Given the description of an element on the screen output the (x, y) to click on. 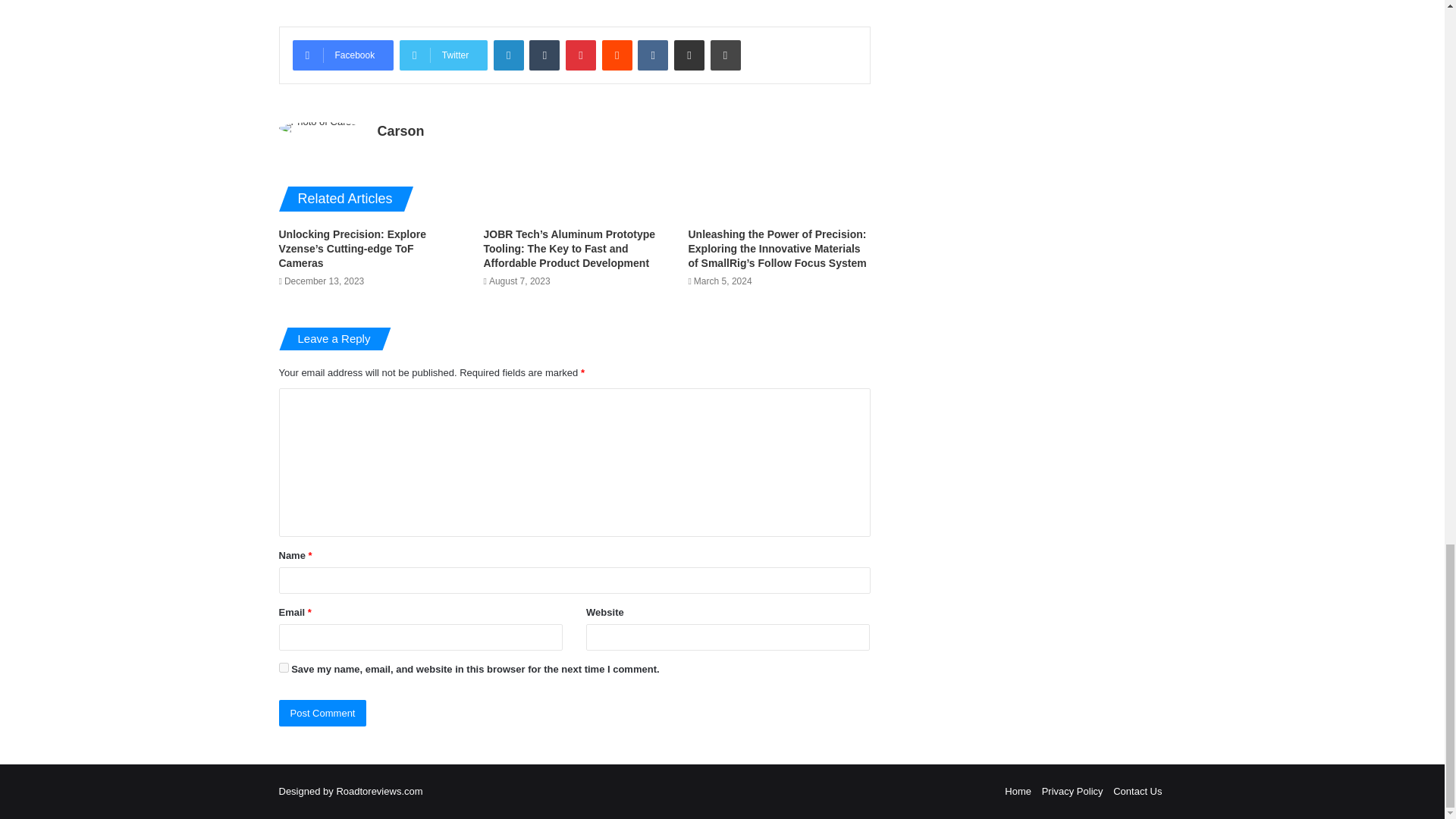
Facebook (343, 55)
Reddit (616, 55)
Facebook (343, 55)
Twitter (442, 55)
Tumblr (544, 55)
VKontakte (652, 55)
Share via Email (689, 55)
Pinterest (580, 55)
Tumblr (544, 55)
LinkedIn (508, 55)
Post Comment (322, 713)
Post Comment (322, 713)
Twitter (442, 55)
Share via Email (689, 55)
Carson (400, 130)
